Given the description of an element on the screen output the (x, y) to click on. 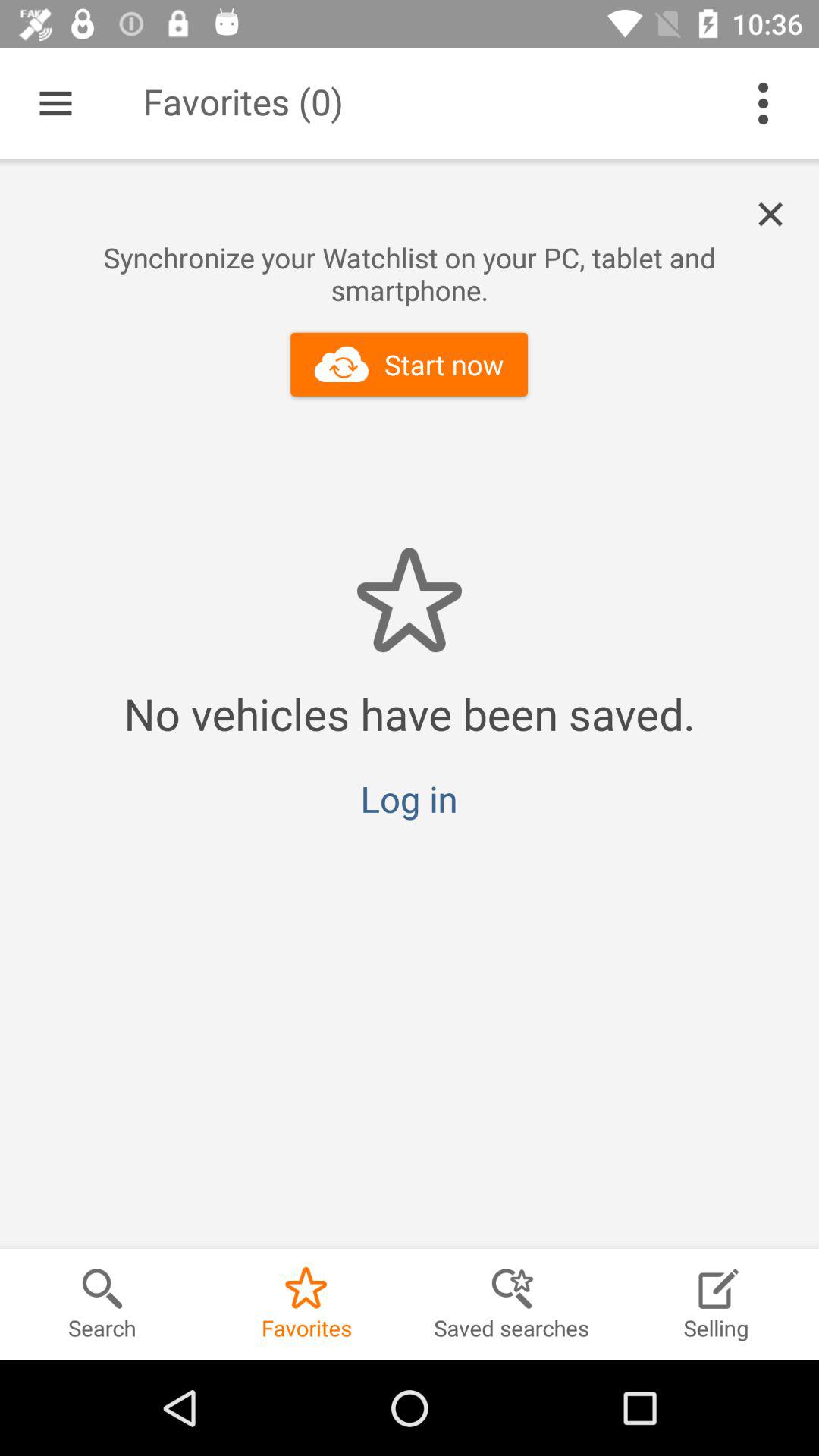
select the item above favorites (408, 798)
